Given the description of an element on the screen output the (x, y) to click on. 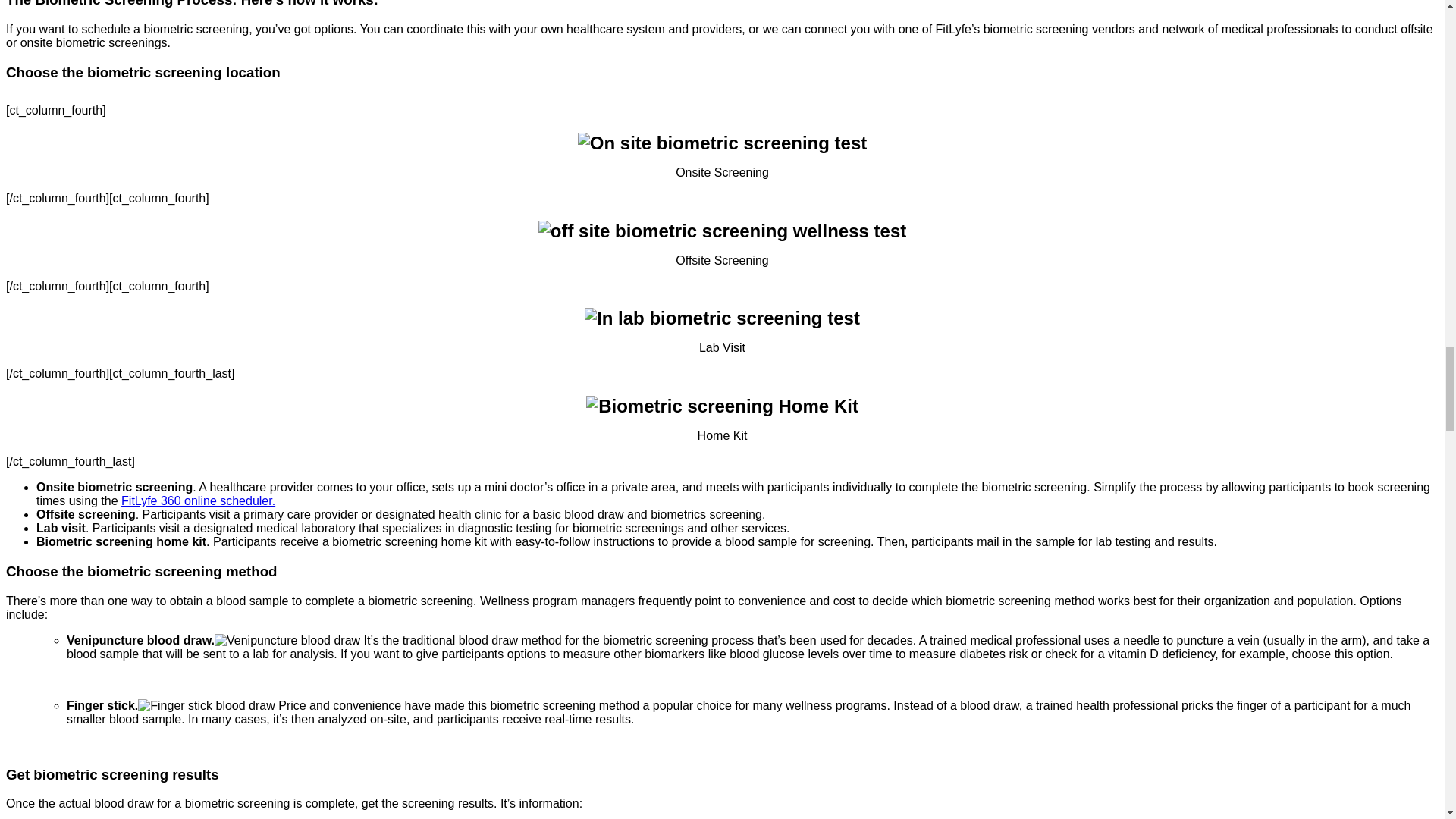
Physician form (206, 705)
Onsite Screening (722, 142)
Offsite Screening (721, 230)
Biometric screening Home Kit (722, 405)
Physician form (286, 640)
Lab Visit (722, 318)
